Given the description of an element on the screen output the (x, y) to click on. 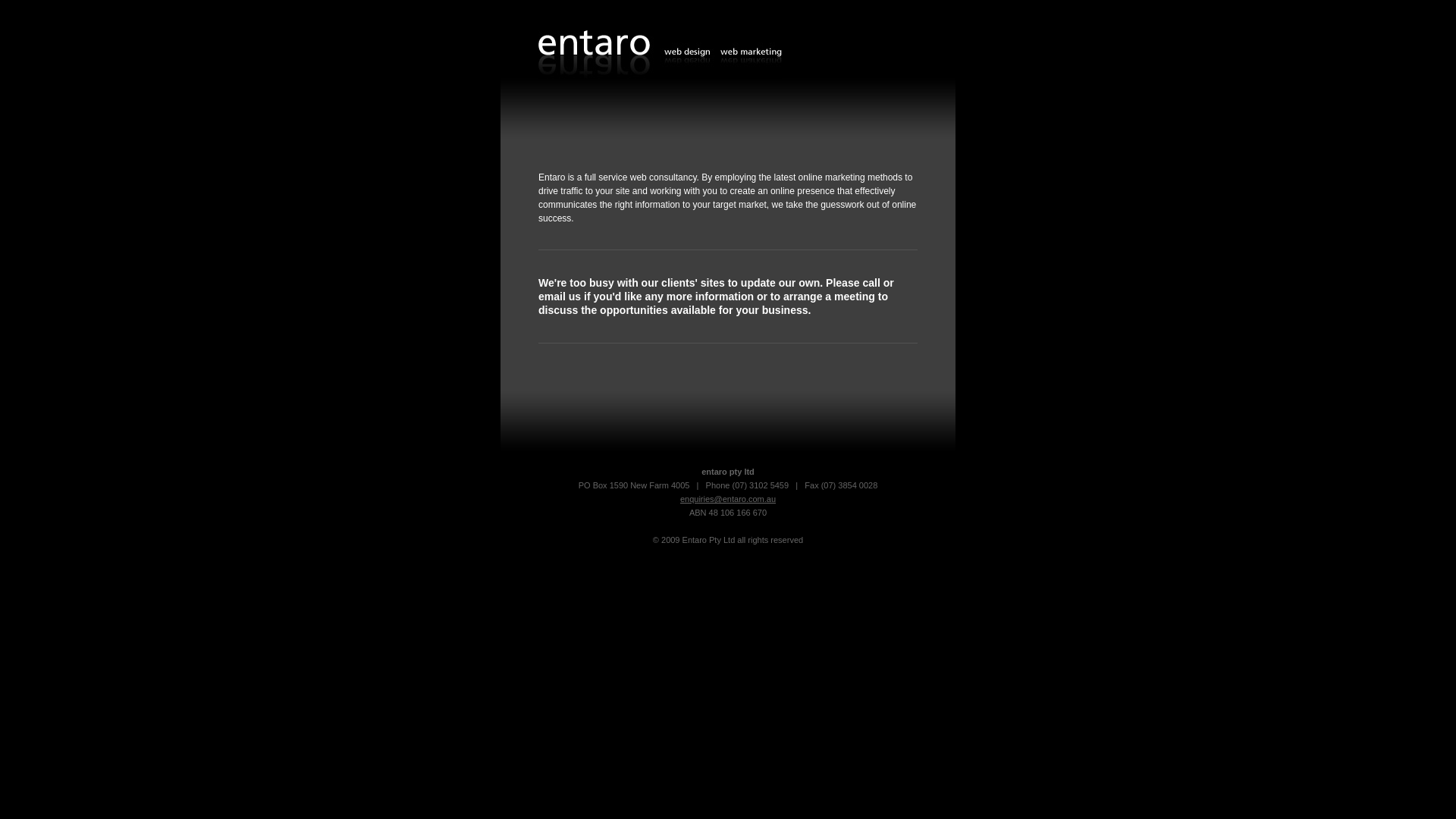
enquiries@entaro.com.au Element type: text (727, 498)
